Given the description of an element on the screen output the (x, y) to click on. 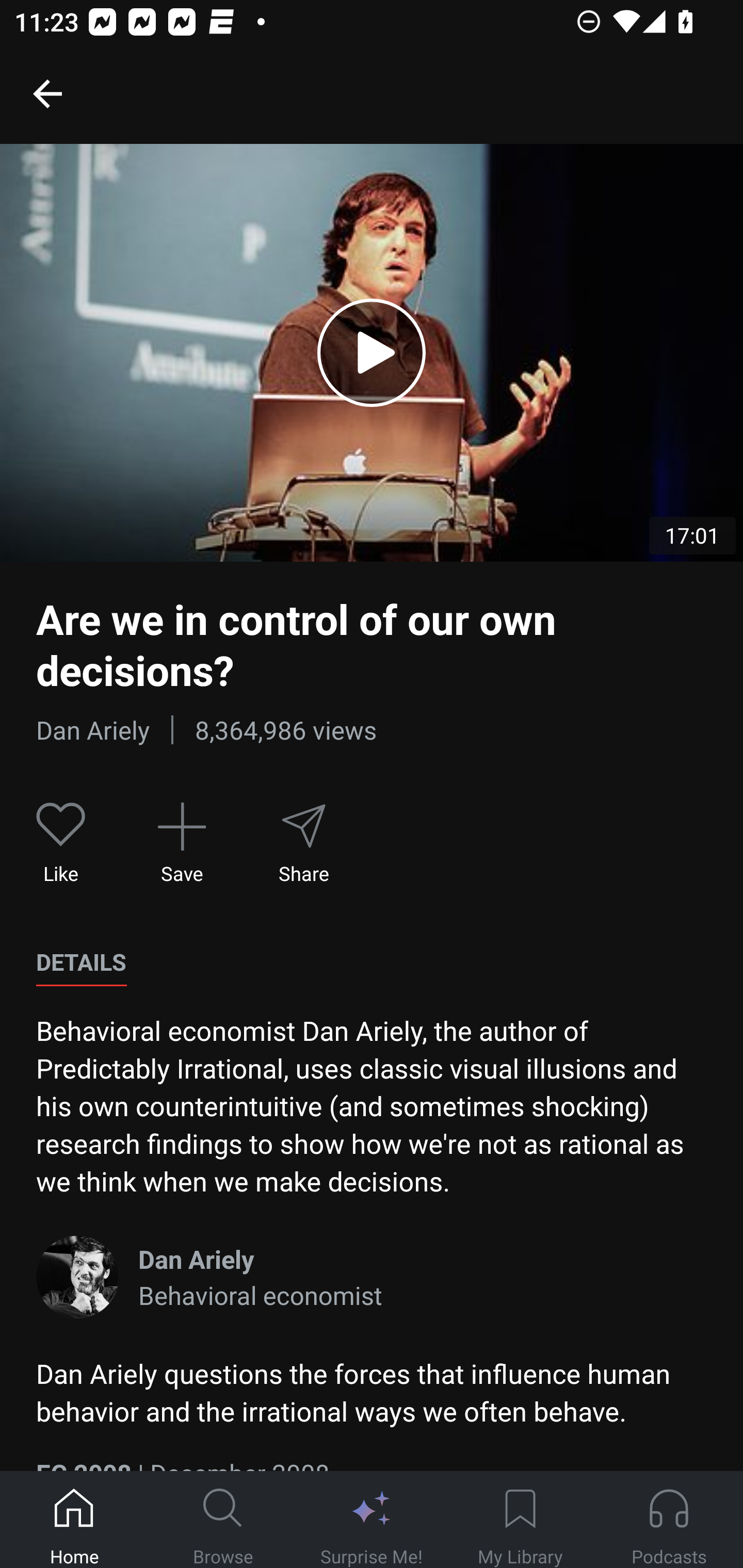
Home, back (47, 92)
Like (60, 843)
Save (181, 843)
Share (302, 843)
DETAILS (80, 962)
Home (74, 1520)
Browse (222, 1520)
Surprise Me! (371, 1520)
My Library (519, 1520)
Podcasts (668, 1520)
